Given the description of an element on the screen output the (x, y) to click on. 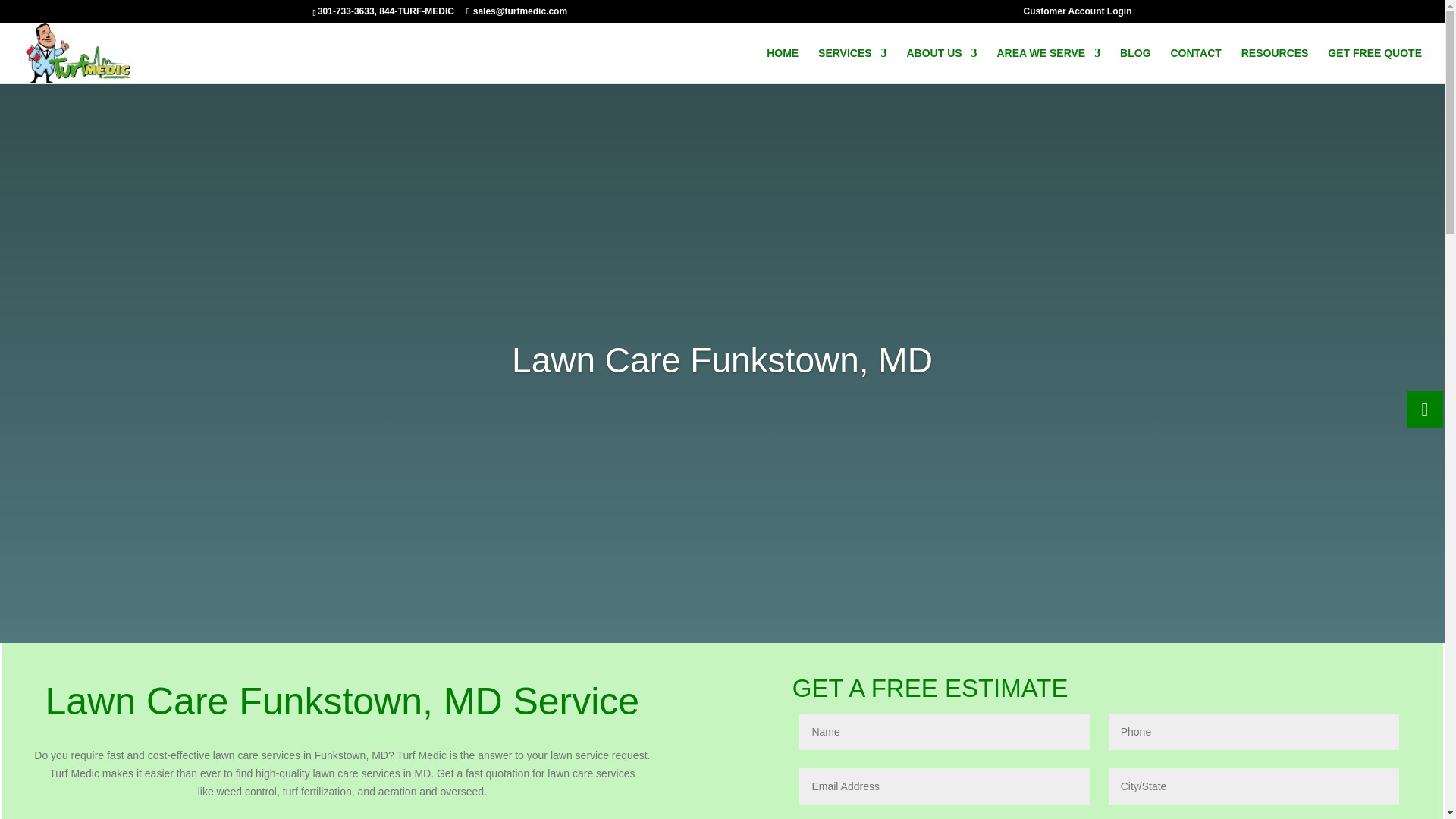
AREA WE SERVE (1047, 65)
SERVICES (852, 65)
Customer Account Login (1077, 10)
CONTACT (1195, 65)
RESOURCES (1274, 65)
GET FREE QUOTE (1374, 65)
ABOUT US (940, 65)
HOME (782, 65)
